Given the description of an element on the screen output the (x, y) to click on. 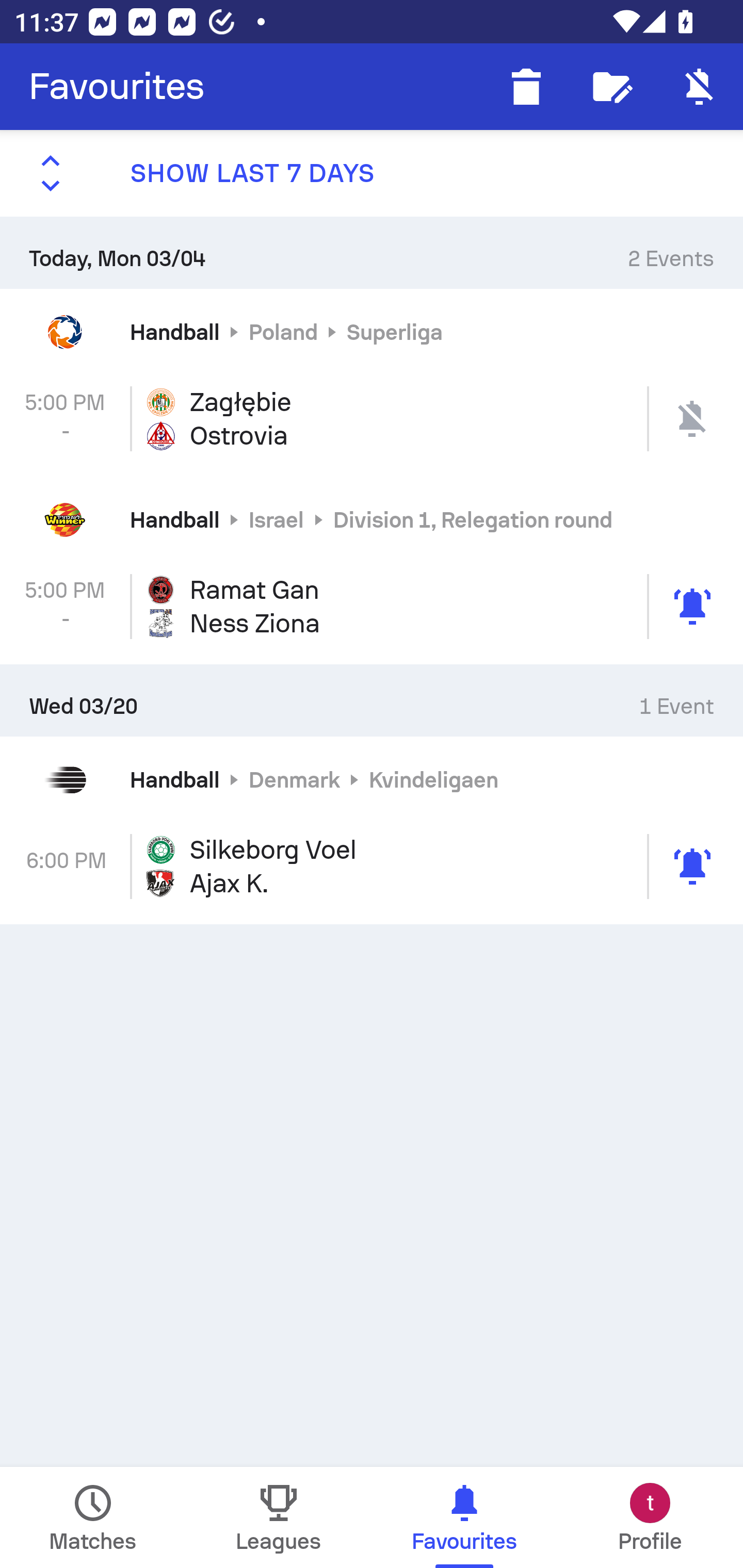
Favourites (116, 86)
Delete finished (525, 86)
Follow editor (612, 86)
Enable notifications (699, 86)
SHOW LAST 7 DAYS (371, 173)
Today, Mon 03/04 2 Events (371, 252)
Handball Poland Superliga (371, 331)
5:00 PM - Zagłębie Ostrovia (371, 418)
Handball Israel Division 1, Relegation round (371, 519)
5:00 PM - Ramat Gan Ness Ziona (371, 605)
Wed 03/20 1 Event (371, 700)
Handball Denmark Kvindeligaen (371, 779)
6:00 PM Silkeborg Voel Ajax K. (371, 866)
Matches (92, 1517)
Leagues (278, 1517)
Profile (650, 1517)
